Given the description of an element on the screen output the (x, y) to click on. 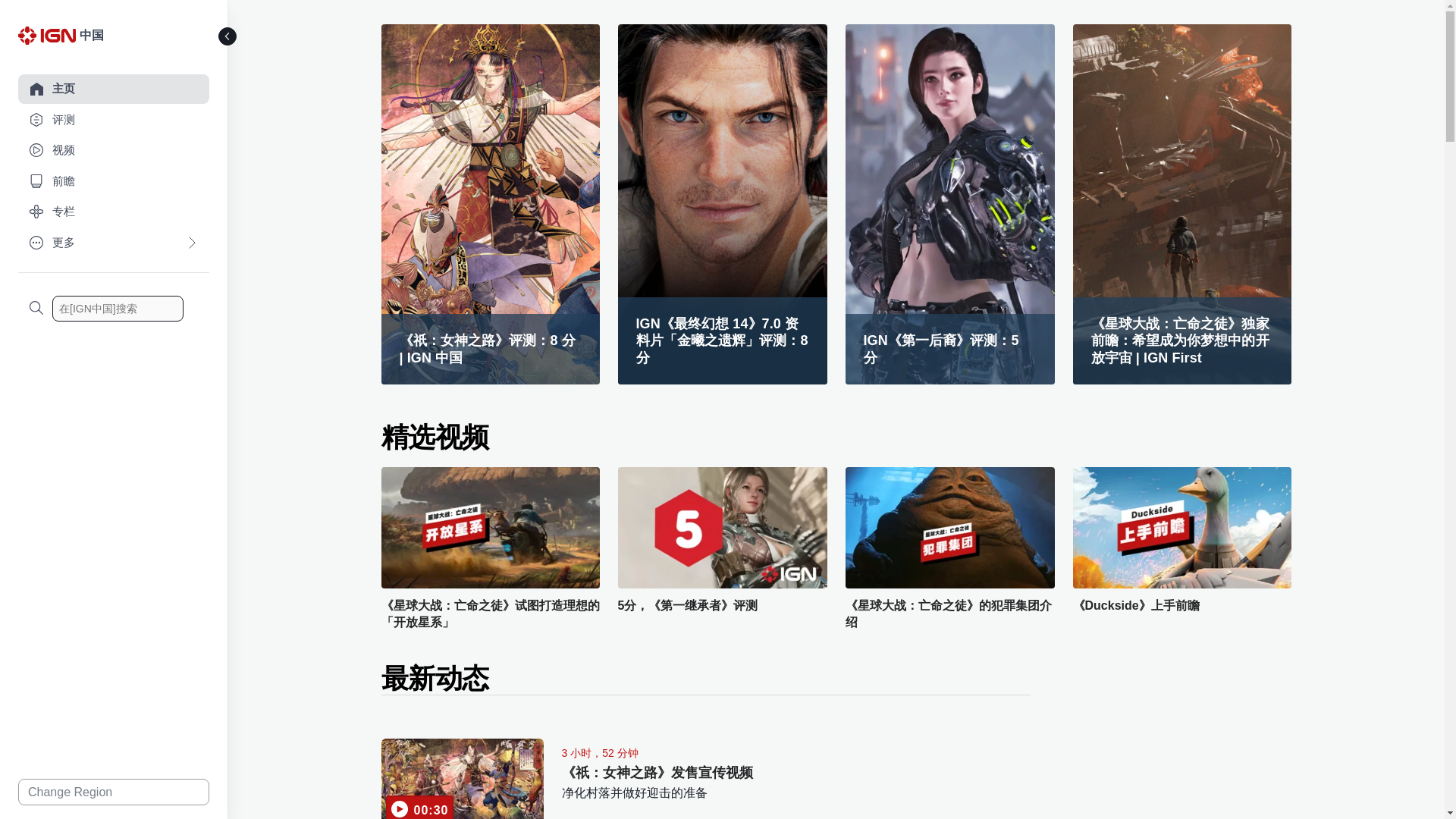
IGN Logo (48, 39)
Toggle Sidebar (226, 36)
IGN Logo (46, 34)
